Given the description of an element on the screen output the (x, y) to click on. 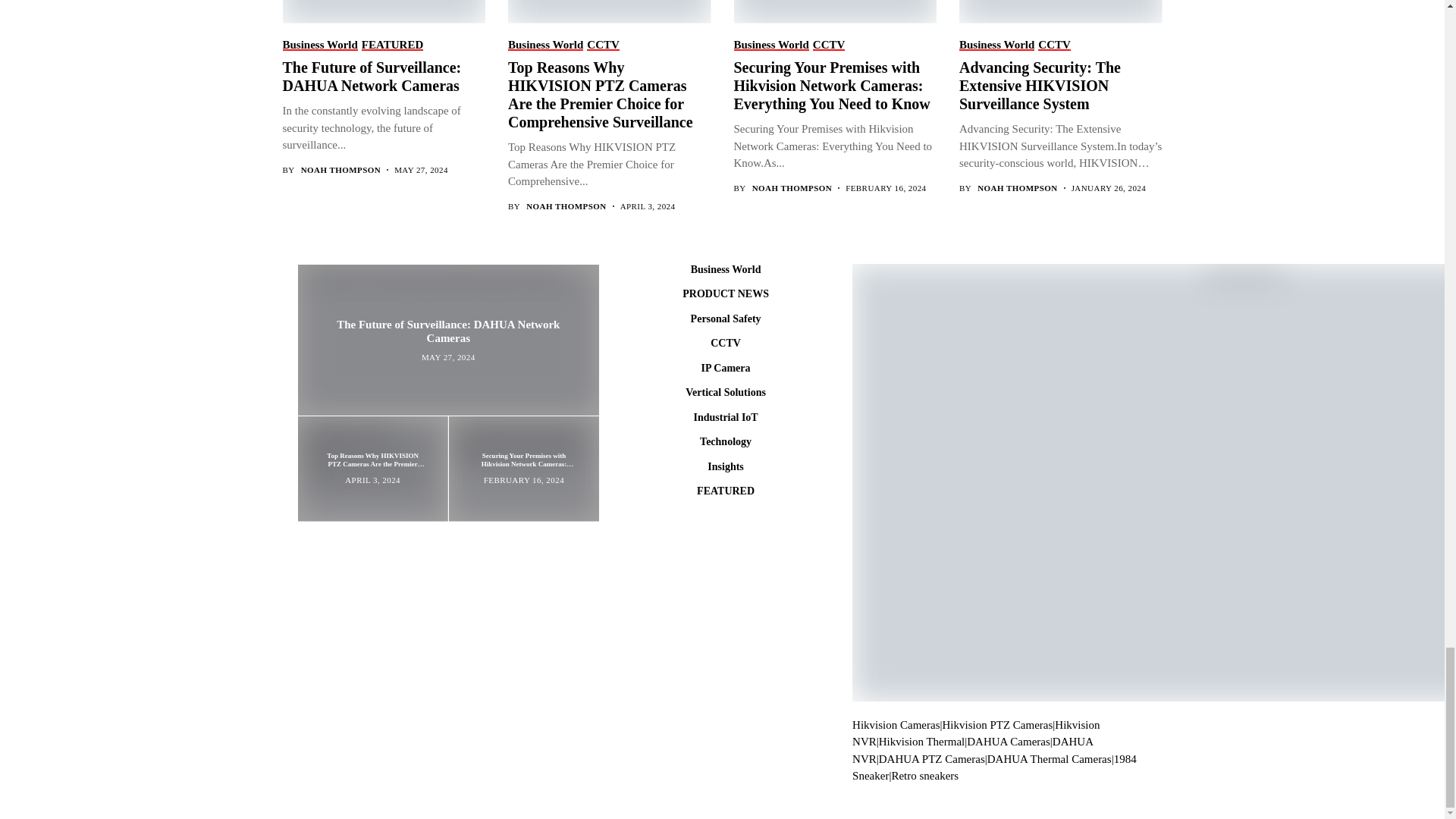
Posts by Noah Thompson (1016, 188)
Posts by Noah Thompson (340, 170)
The Future of Surveillance: DAHUA Network Cameras (447, 338)
The Future of Surveillance: DAHUA Network Cameras (382, 11)
Posts by Noah Thompson (565, 206)
Posts by Noah Thompson (791, 188)
